Given the description of an element on the screen output the (x, y) to click on. 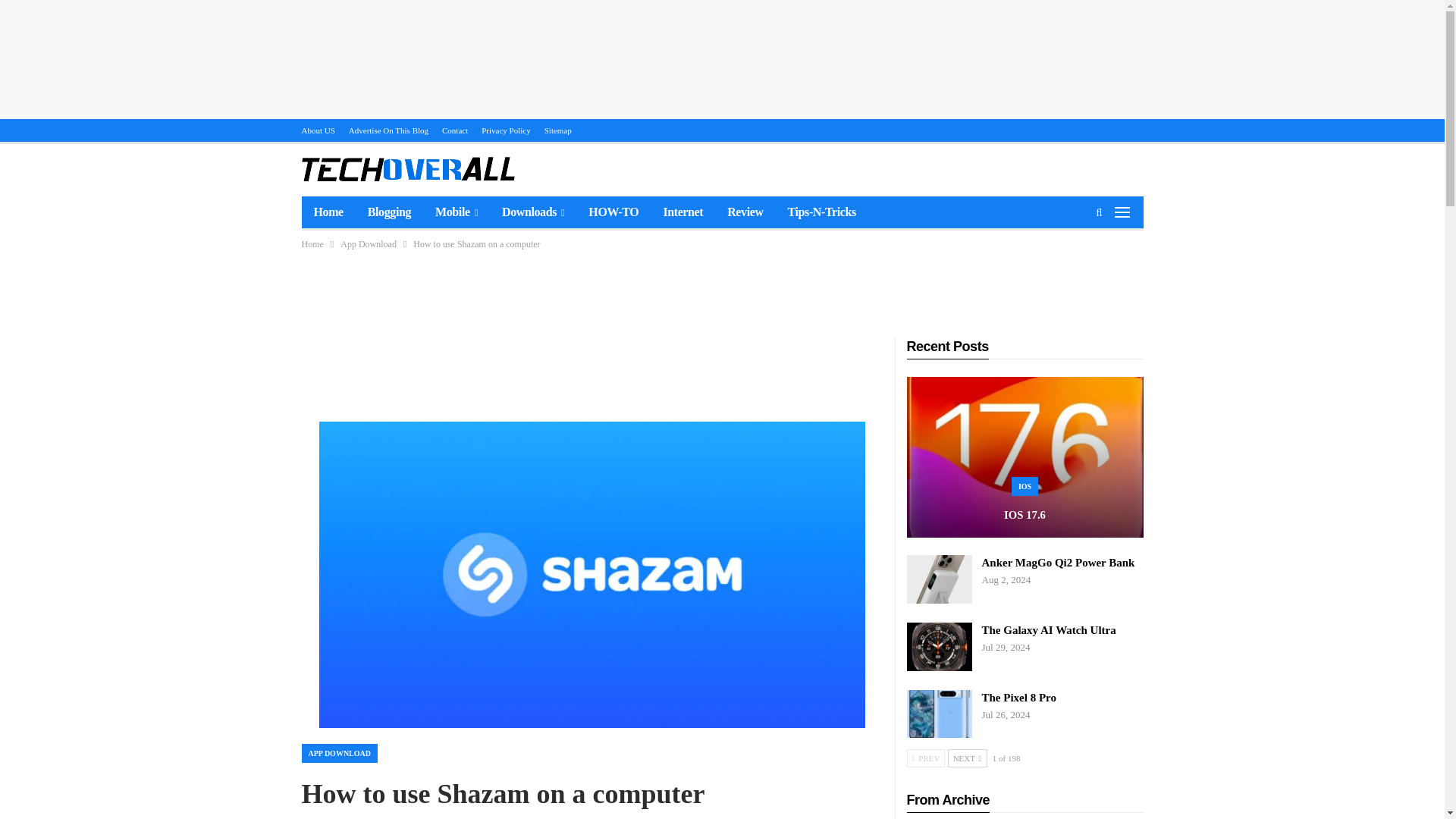
Home (312, 243)
Contact (454, 130)
Tips-N-Tricks (821, 212)
APP DOWNLOAD (339, 752)
About US (317, 130)
Advertise On This Blog (388, 130)
Downloads (532, 212)
Internet (682, 212)
Privacy Policy (505, 130)
Advertisement (721, 288)
